Given the description of an element on the screen output the (x, y) to click on. 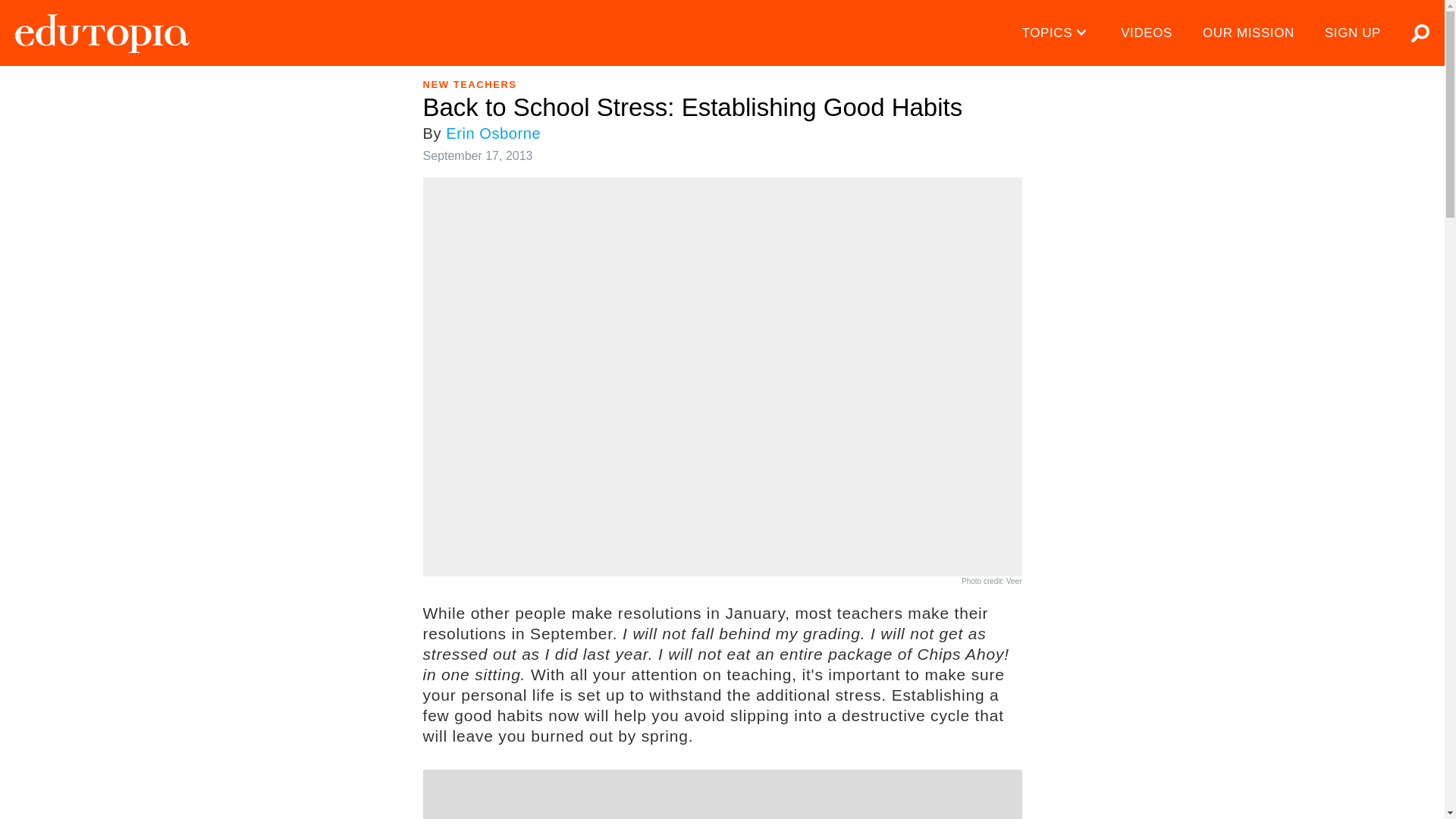
SIGN UP (1352, 33)
TOPICS (1056, 33)
Erin Osborne (492, 133)
Edutopia (101, 33)
OUR MISSION (1248, 33)
Edutopia (101, 33)
VIDEOS (1146, 33)
